Given the description of an element on the screen output the (x, y) to click on. 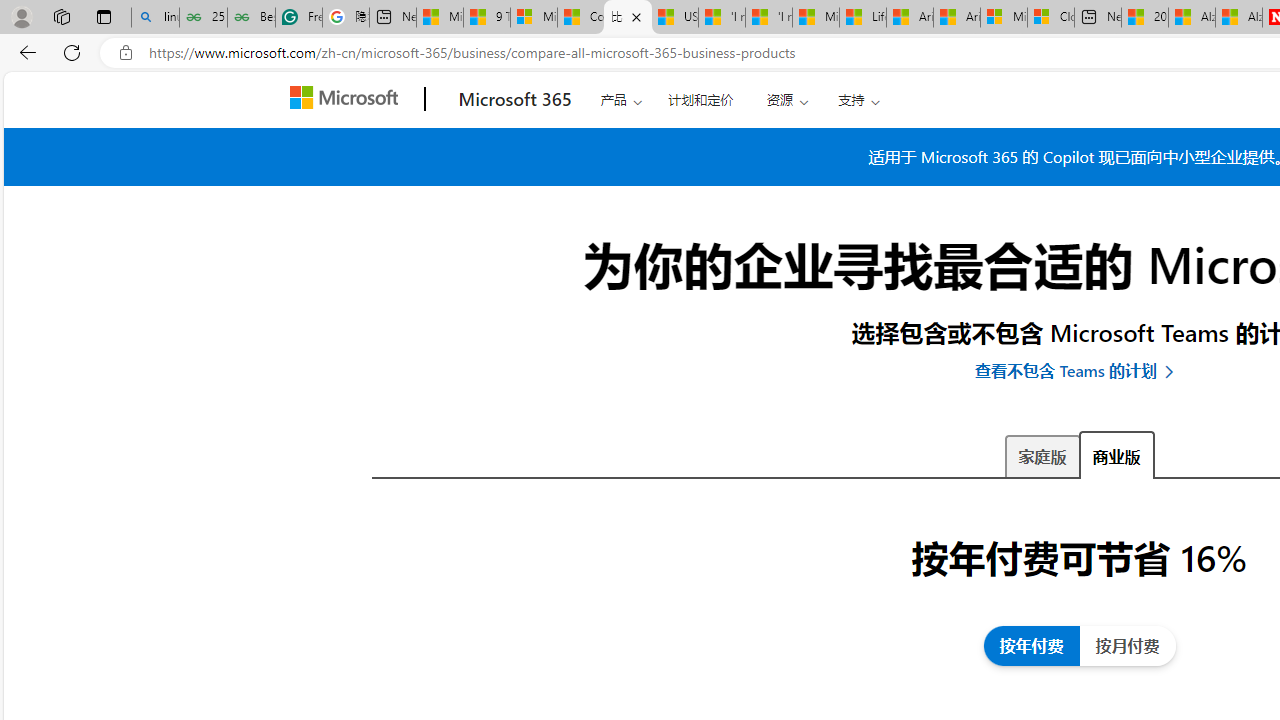
Best SSL Certificates Provider in India - GeeksforGeeks (251, 17)
USA TODAY - MSN (674, 17)
